Given the description of an element on the screen output the (x, y) to click on. 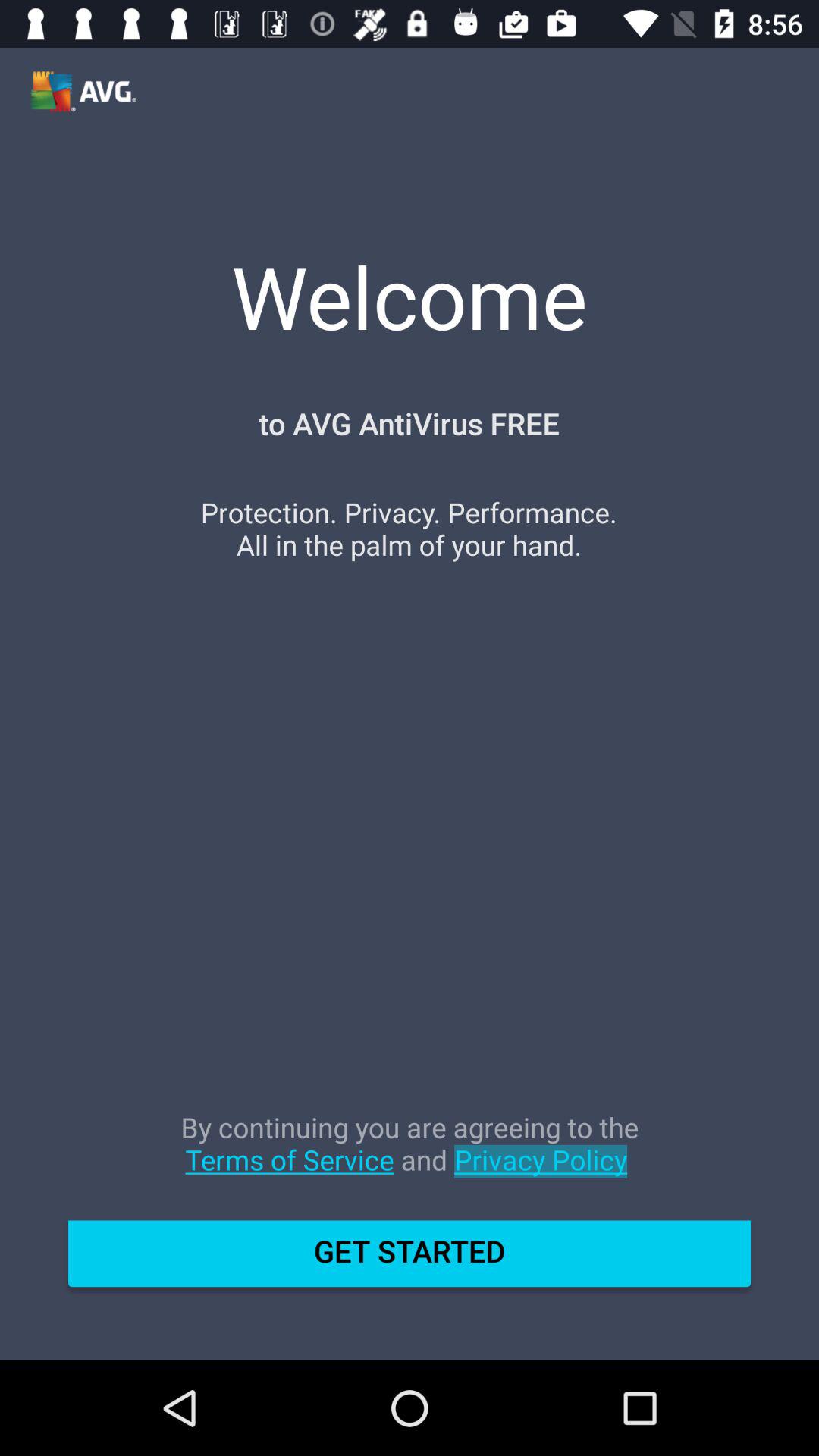
swipe until the by continuing you icon (409, 1159)
